Given the description of an element on the screen output the (x, y) to click on. 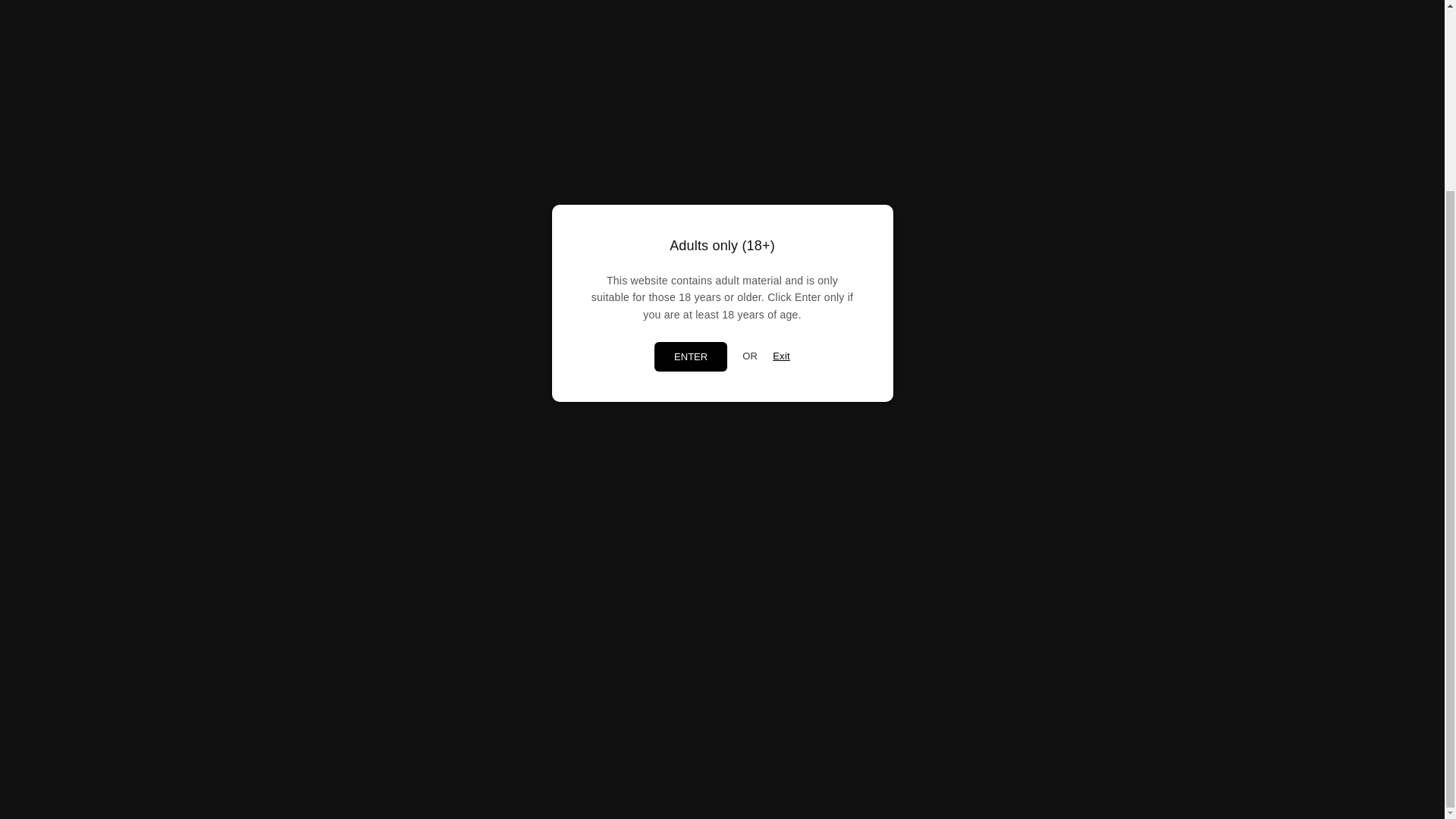
1 (629, 158)
Vape Wholesale Mcr on Twitter (295, 743)
Vape Wholesale Mcr on Facebook (272, 743)
Quantity (630, 158)
Vape Wholesale Mcr on Pinterest (318, 743)
SUBSCRIBE (392, 702)
Vape Wholesale Mcr on Instagram (340, 743)
